Given the description of an element on the screen output the (x, y) to click on. 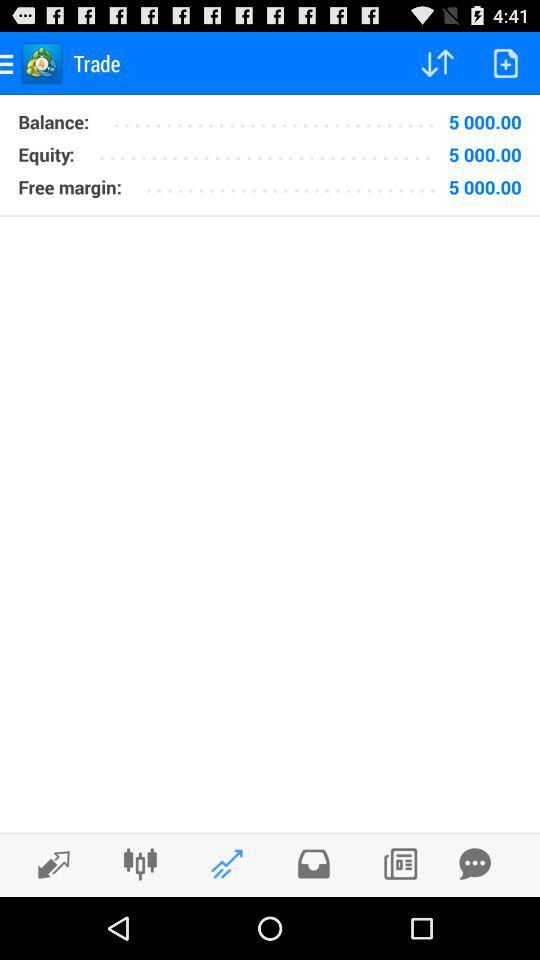
show adjustments (140, 863)
